Given the description of an element on the screen output the (x, y) to click on. 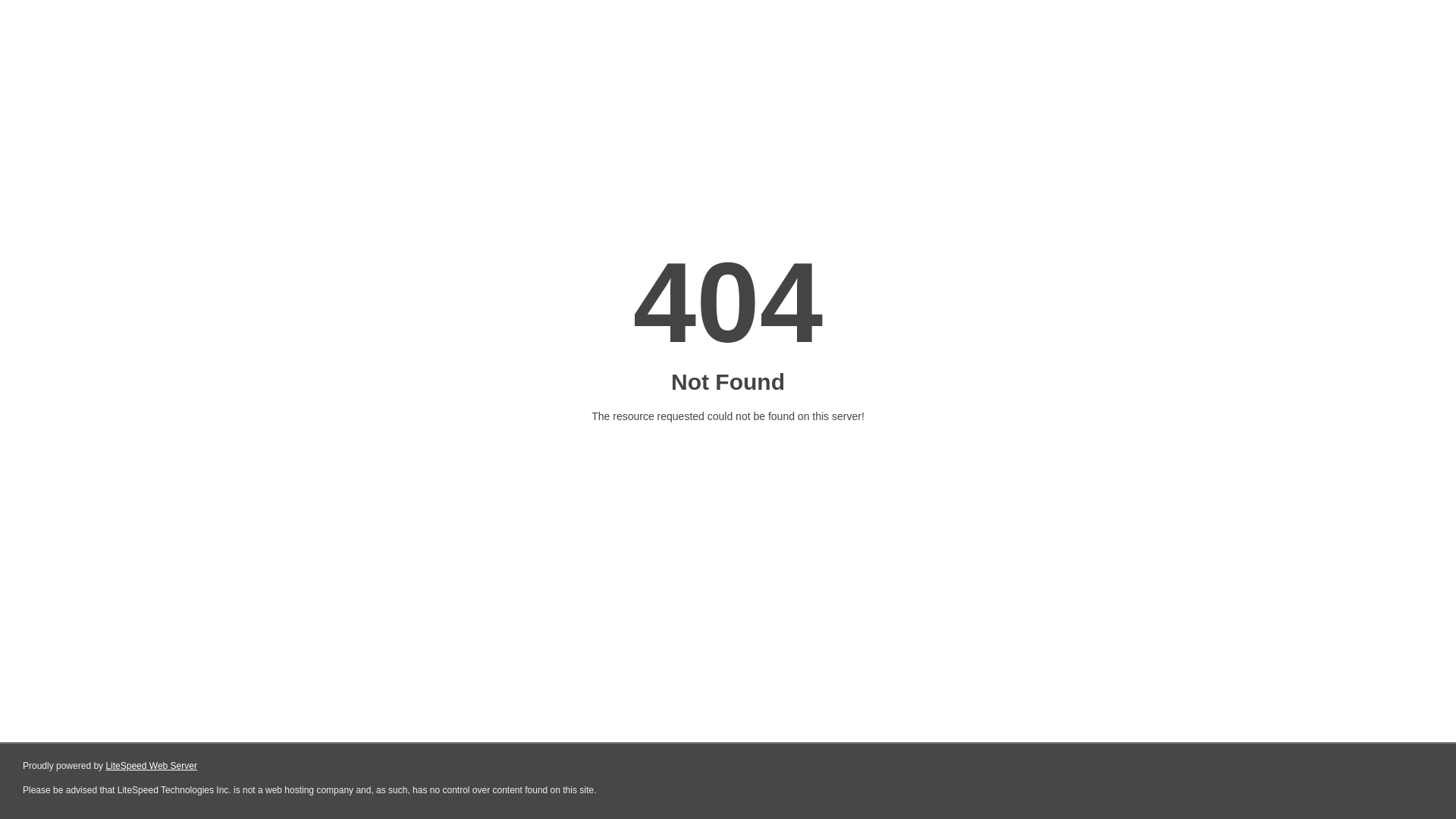
LiteSpeed Web Server Element type: text (151, 765)
